Given the description of an element on the screen output the (x, y) to click on. 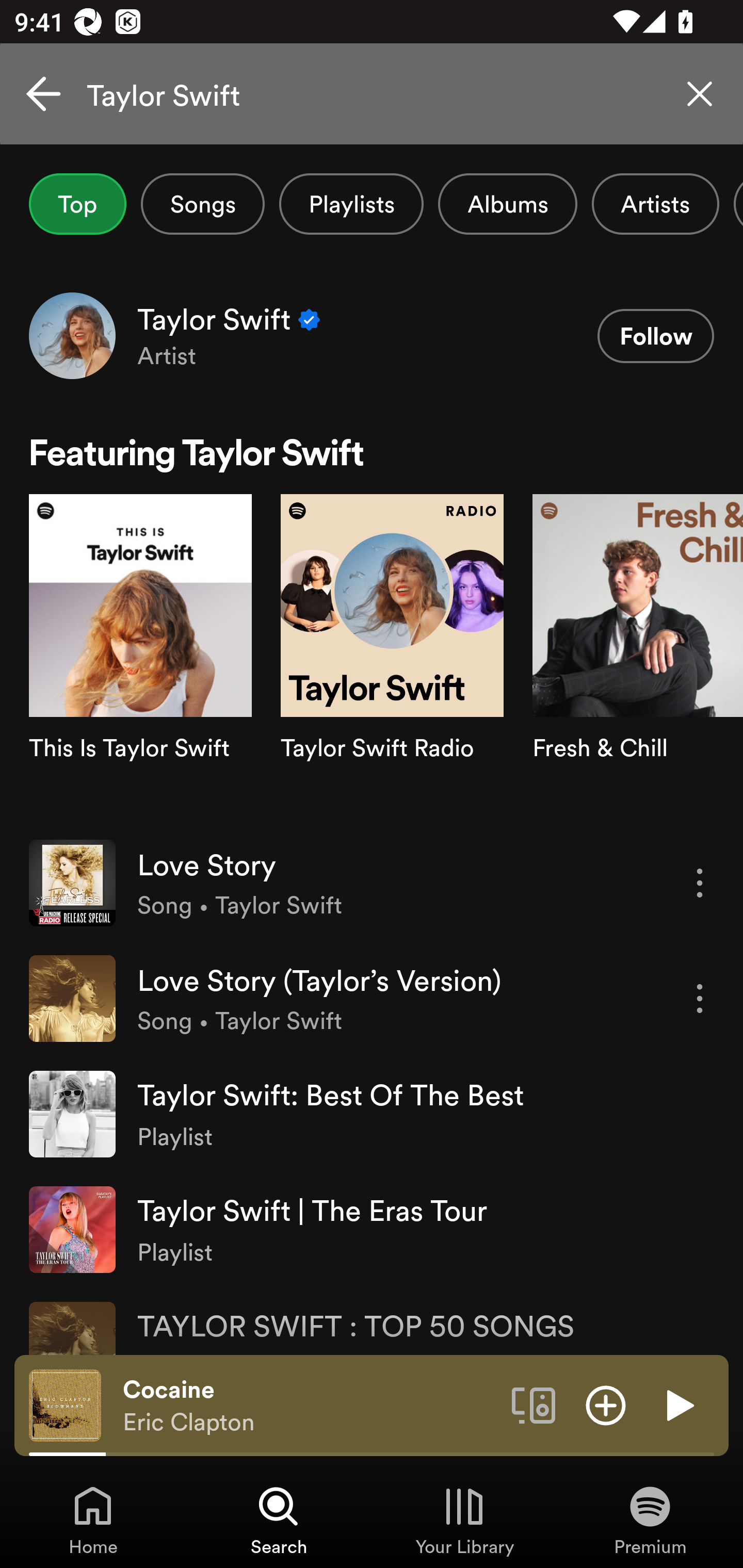
Taylor Swift (371, 93)
Cancel (43, 93)
Clear search query (699, 93)
Top (77, 203)
Songs (202, 203)
Playlists (351, 203)
Albums (507, 203)
Artists (655, 203)
Taylor Swift Verified Artist Follow Follow (371, 335)
Follow (655, 335)
Search card image This Is Taylor Swift (139, 658)
Search card image Taylor Swift Radio (391, 658)
Search card image Fresh & Chill (637, 658)
More options for song Love Story (699, 883)
Taylor Swift: Best Of The Best Playlist (371, 1113)
Taylor Swift | The Eras Tour Playlist (371, 1229)
TAYLOR SWIFT : TOP 50 SONGS Playlist (371, 1320)
Cocaine Eric Clapton (309, 1405)
The cover art of the currently playing track (64, 1404)
Connect to a device. Opens the devices menu (533, 1404)
Add item (605, 1404)
Play (677, 1404)
Home, Tab 1 of 4 Home Home (92, 1519)
Search, Tab 2 of 4 Search Search (278, 1519)
Your Library, Tab 3 of 4 Your Library Your Library (464, 1519)
Premium, Tab 4 of 4 Premium Premium (650, 1519)
